Given the description of an element on the screen output the (x, y) to click on. 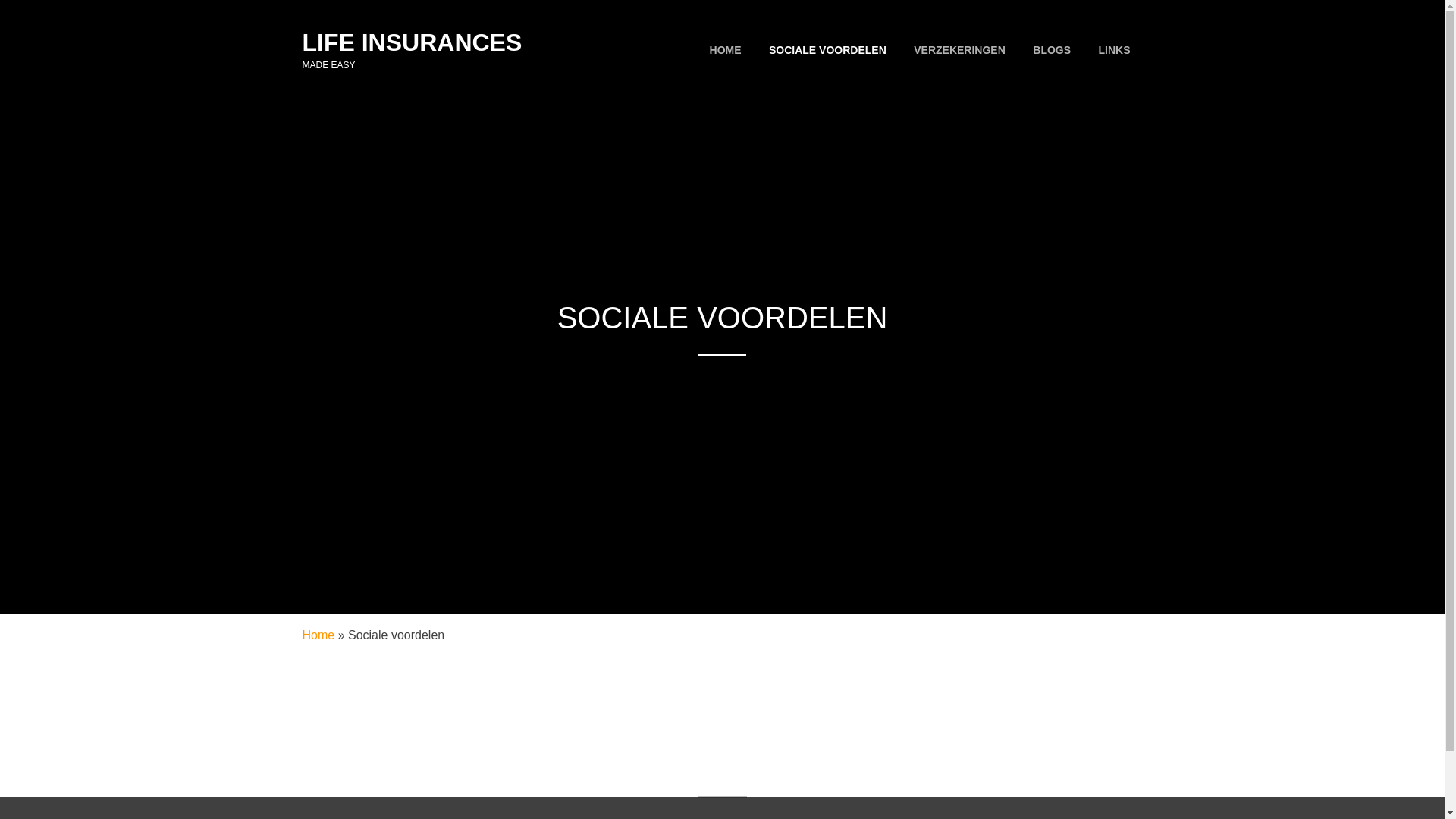
SKIP TO NAVIGATION Element type: text (0, 0)
LINKS Element type: text (1113, 50)
LIFE INSURANCES Element type: text (411, 42)
Home Element type: text (317, 634)
HOME Element type: text (725, 50)
VERZEKERINGEN Element type: text (959, 50)
BLOGS Element type: text (1051, 50)
SOCIALE VOORDELEN Element type: text (827, 50)
